Given the description of an element on the screen output the (x, y) to click on. 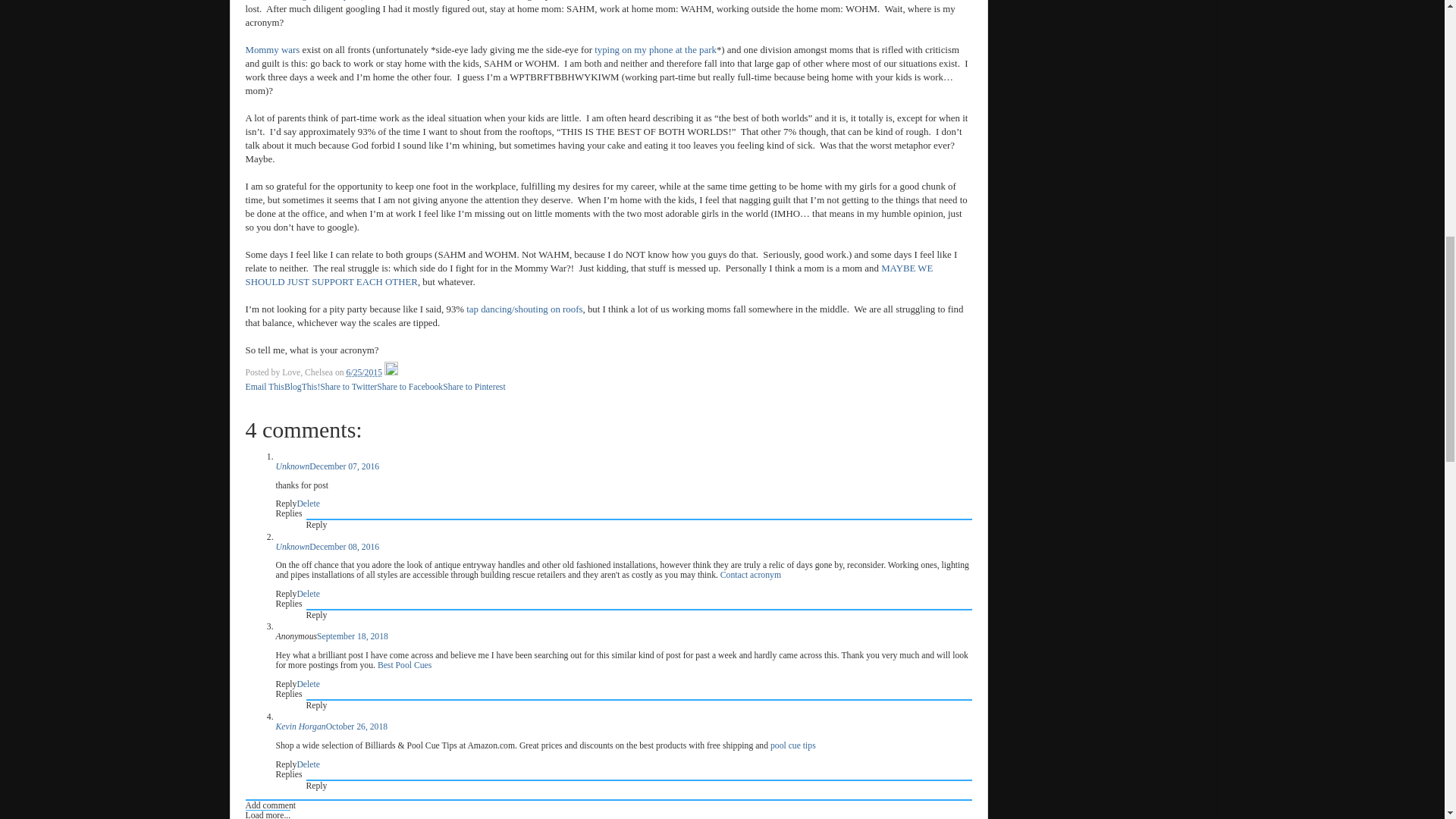
September 18, 2018 (352, 636)
BlogThis! (301, 387)
Mommy wars (272, 50)
Email This (264, 387)
Share to Pinterest (473, 387)
Share to Facebook (409, 387)
Share to Twitter (348, 387)
Contact acronym (750, 574)
Edit Post (390, 372)
typing on my phone at the park (655, 50)
permanent link (363, 372)
Share to Pinterest (473, 387)
Replies (289, 694)
Email This (264, 387)
Unknown (293, 547)
